Given the description of an element on the screen output the (x, y) to click on. 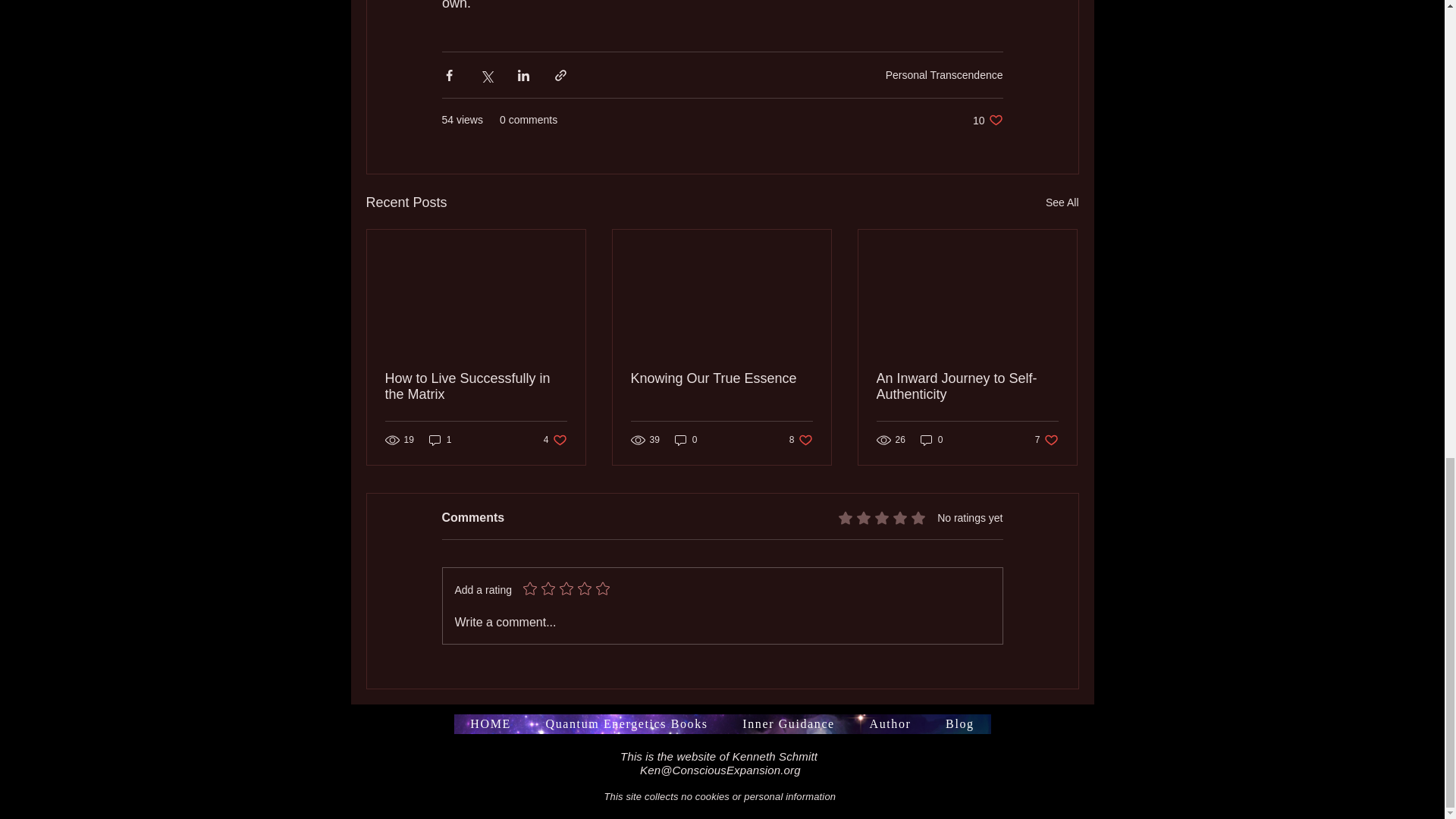
HOME (489, 723)
3 (1046, 439)
See All (440, 439)
0 (1061, 202)
Blog (685, 439)
Write a comment... (800, 439)
Author (959, 723)
Quantum Energetics Books (722, 622)
Personal Transcendence (890, 723)
An Inward Journey to Self-Authenticity (627, 723)
